Given the description of an element on the screen output the (x, y) to click on. 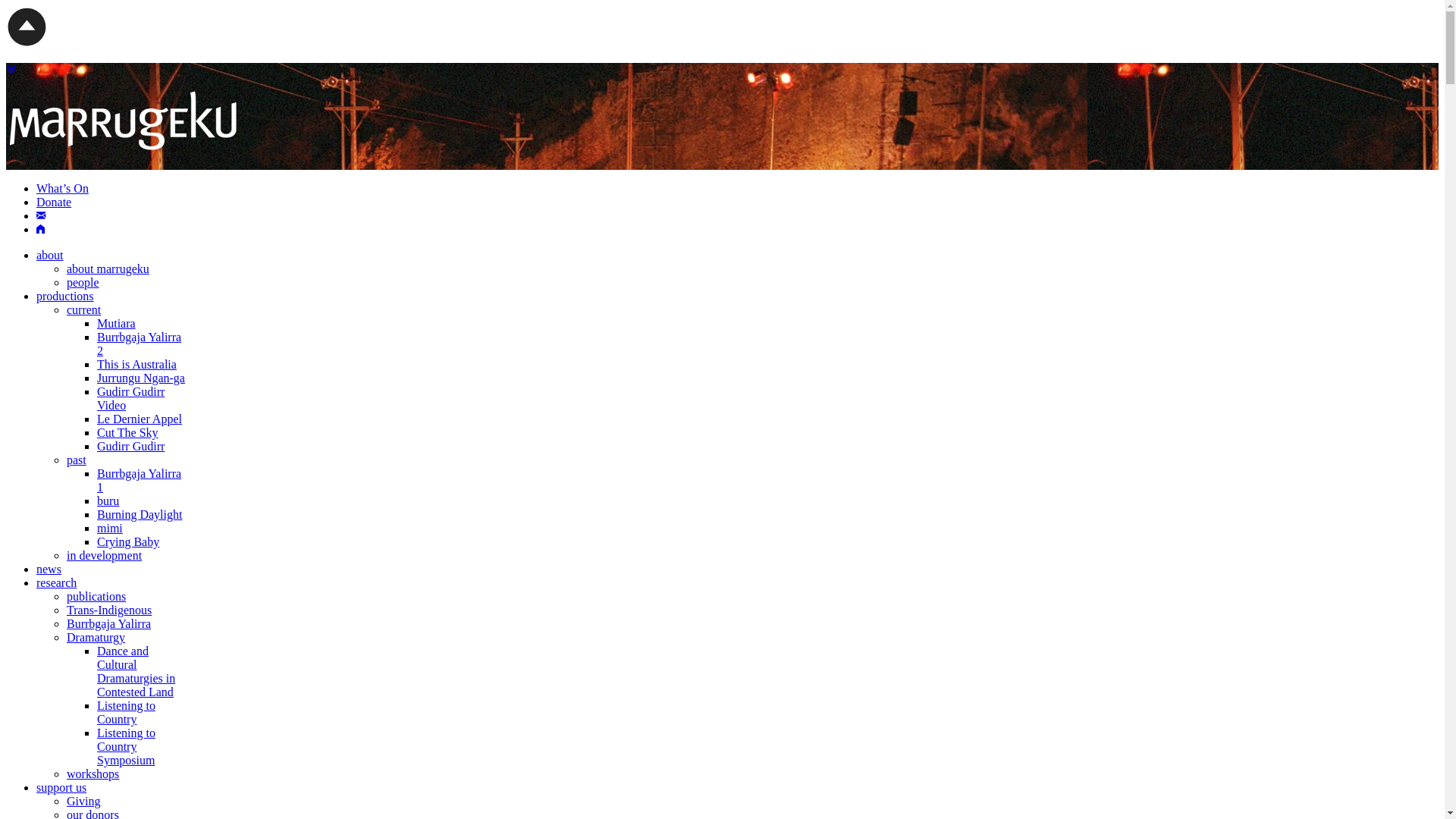
Mutiara Element type: text (116, 322)
Gudirr Gudirr Element type: text (130, 445)
Dance and Cultural Dramaturgies in Contested Land Element type: text (136, 671)
Burning Daylight Element type: text (139, 514)
past Element type: text (76, 459)
publications Element type: text (95, 595)
Dramaturgy Element type: text (95, 636)
This is Australia Element type: text (136, 363)
Crying Baby Element type: text (128, 541)
news Element type: text (48, 568)
Trans-Indigenous Element type: text (108, 609)
Burrbgaja Yalirra 1 Element type: text (139, 480)
buru Element type: text (108, 500)
Giving Element type: text (83, 800)
about Element type: text (49, 254)
Burrbgaja Yalirra Element type: text (108, 623)
research Element type: text (56, 582)
Donate Element type: text (53, 201)
Gudirr Gudirr Video Element type: text (130, 398)
mimi Element type: text (109, 527)
Burrbgaja Yalirra 2 Element type: text (139, 343)
in development Element type: text (103, 555)
about marrugeku Element type: text (107, 268)
Le Dernier Appel Element type: text (139, 418)
productions Element type: text (65, 295)
Jurrungu Ngan-ga Element type: text (141, 377)
people Element type: text (82, 282)
support us Element type: text (61, 787)
Cut The Sky Element type: text (127, 432)
current Element type: text (83, 309)
workshops Element type: text (92, 773)
Listening to Country Element type: text (126, 712)
Listening to Country Symposium Element type: text (126, 746)
